Given the description of an element on the screen output the (x, y) to click on. 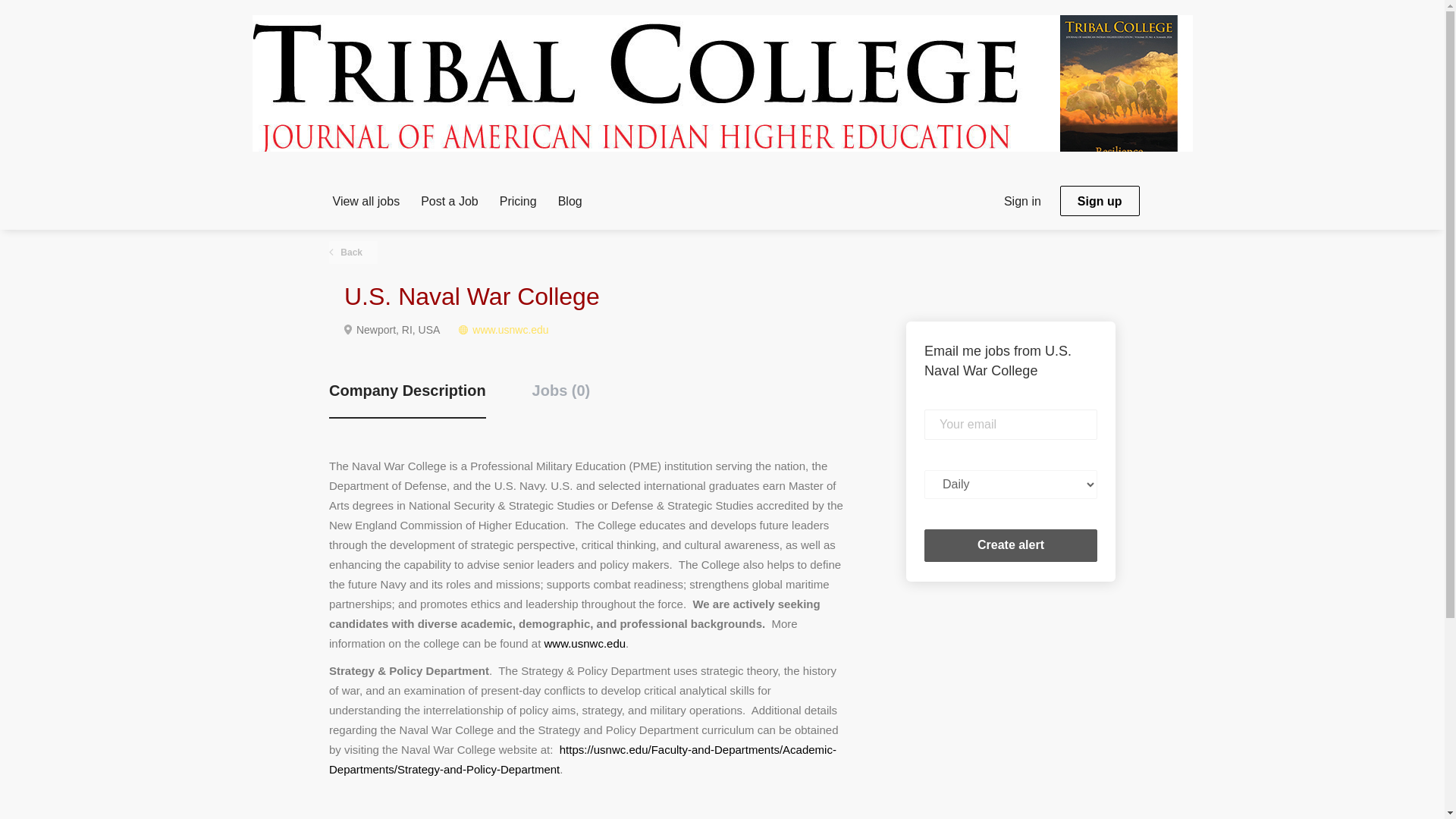
Post a Job (449, 203)
Back (353, 251)
www.usnwc.edu (585, 643)
Sign in (1022, 199)
Create alert (1010, 545)
Create alert (1010, 545)
Company Description (407, 399)
View all jobs (364, 203)
www.usnwc.edu (509, 329)
Blog (569, 203)
